Given the description of an element on the screen output the (x, y) to click on. 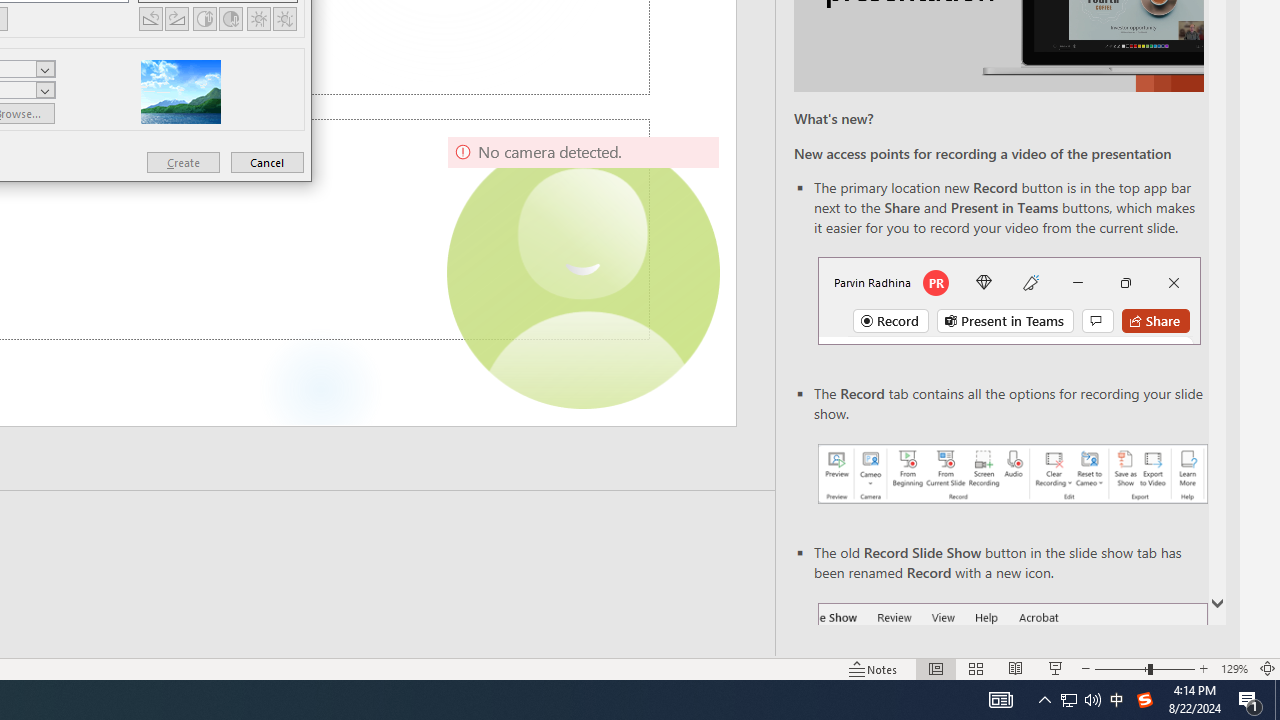
Less Brightness (284, 18)
